Given the description of an element on the screen output the (x, y) to click on. 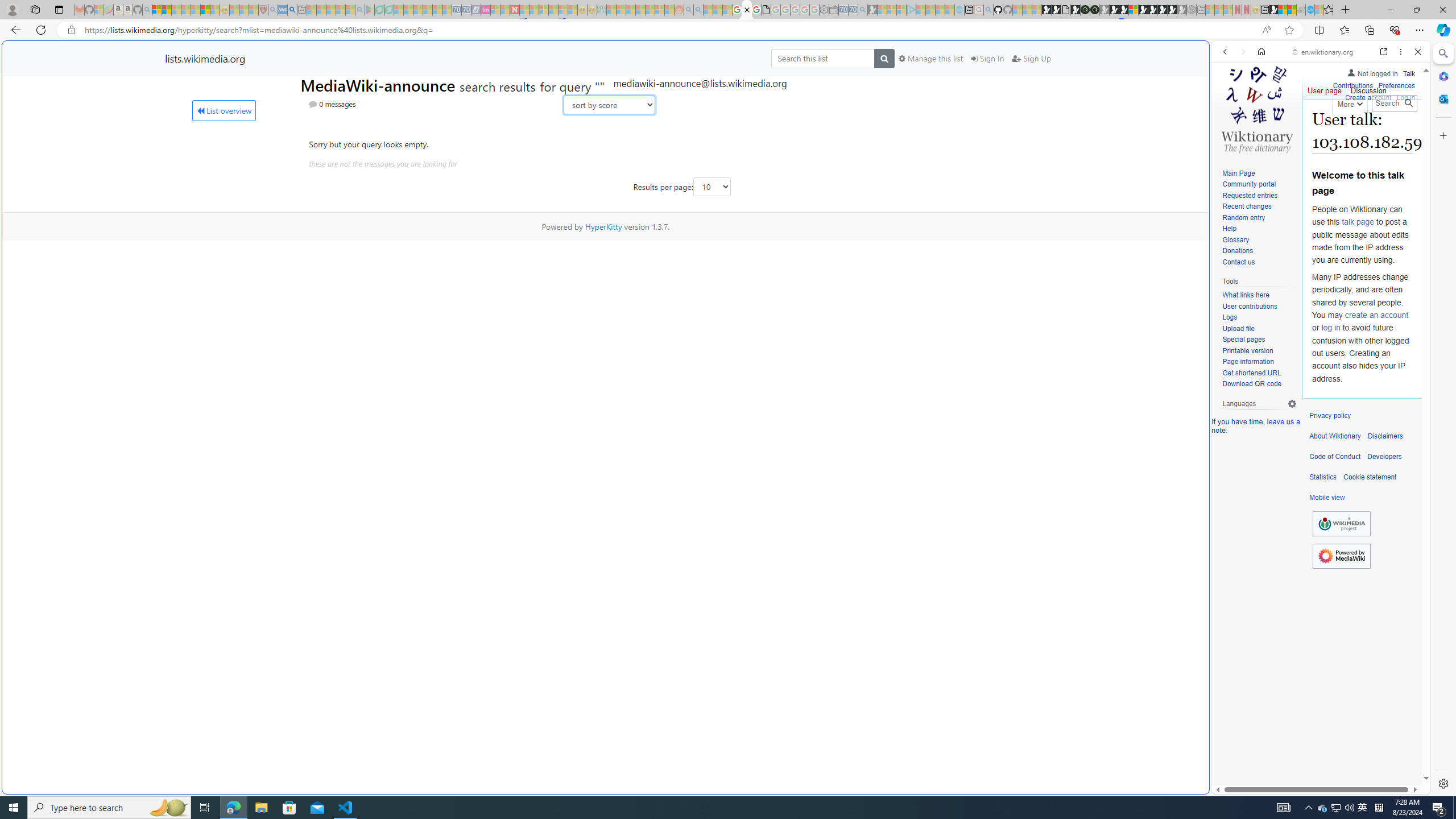
User contributions (1259, 306)
Statistics (1322, 477)
Recent changes (1259, 206)
Class: form-control input-sm (711, 186)
